Given the description of an element on the screen output the (x, y) to click on. 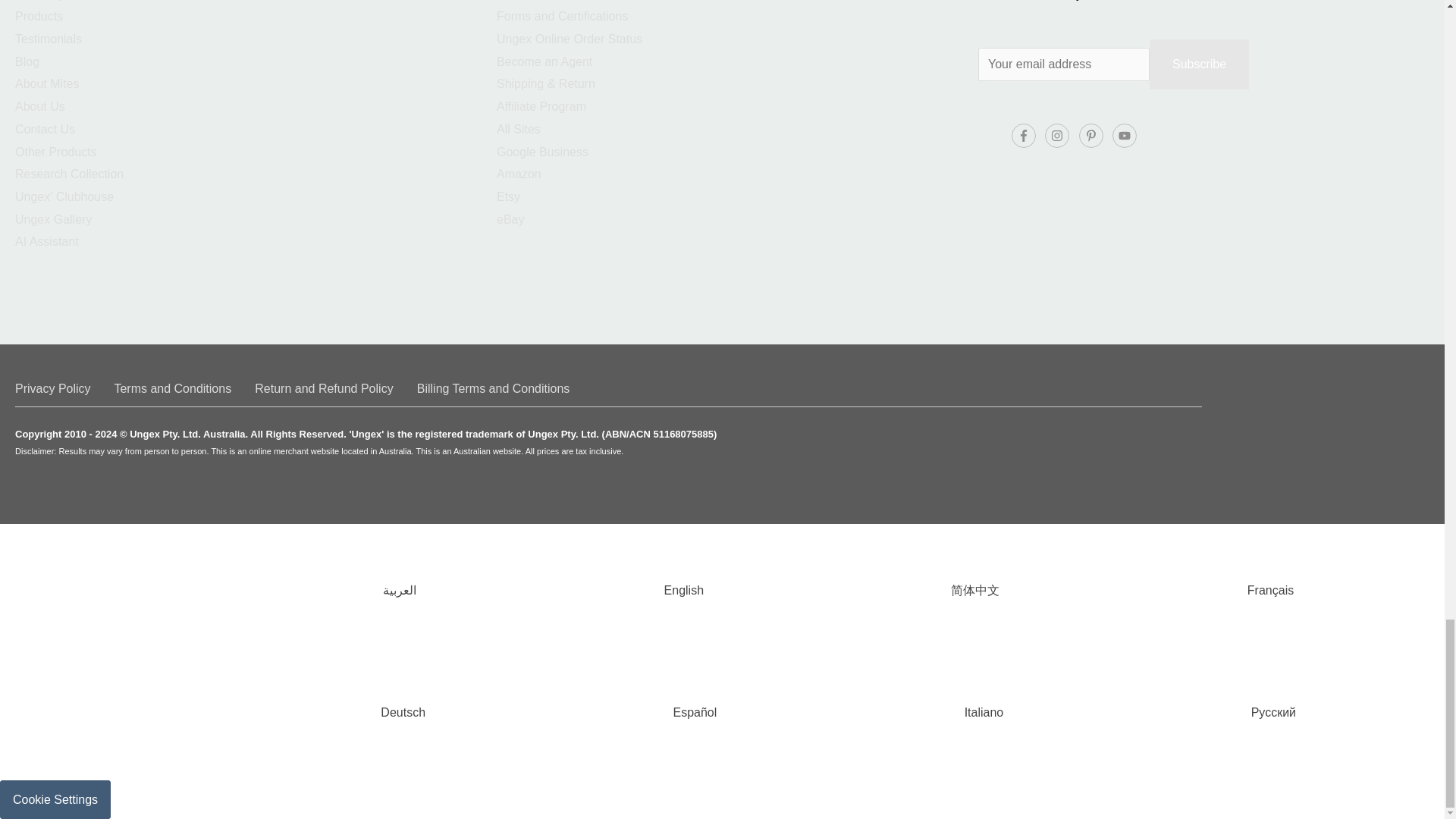
Subscribe (1199, 64)
